Given the description of an element on the screen output the (x, y) to click on. 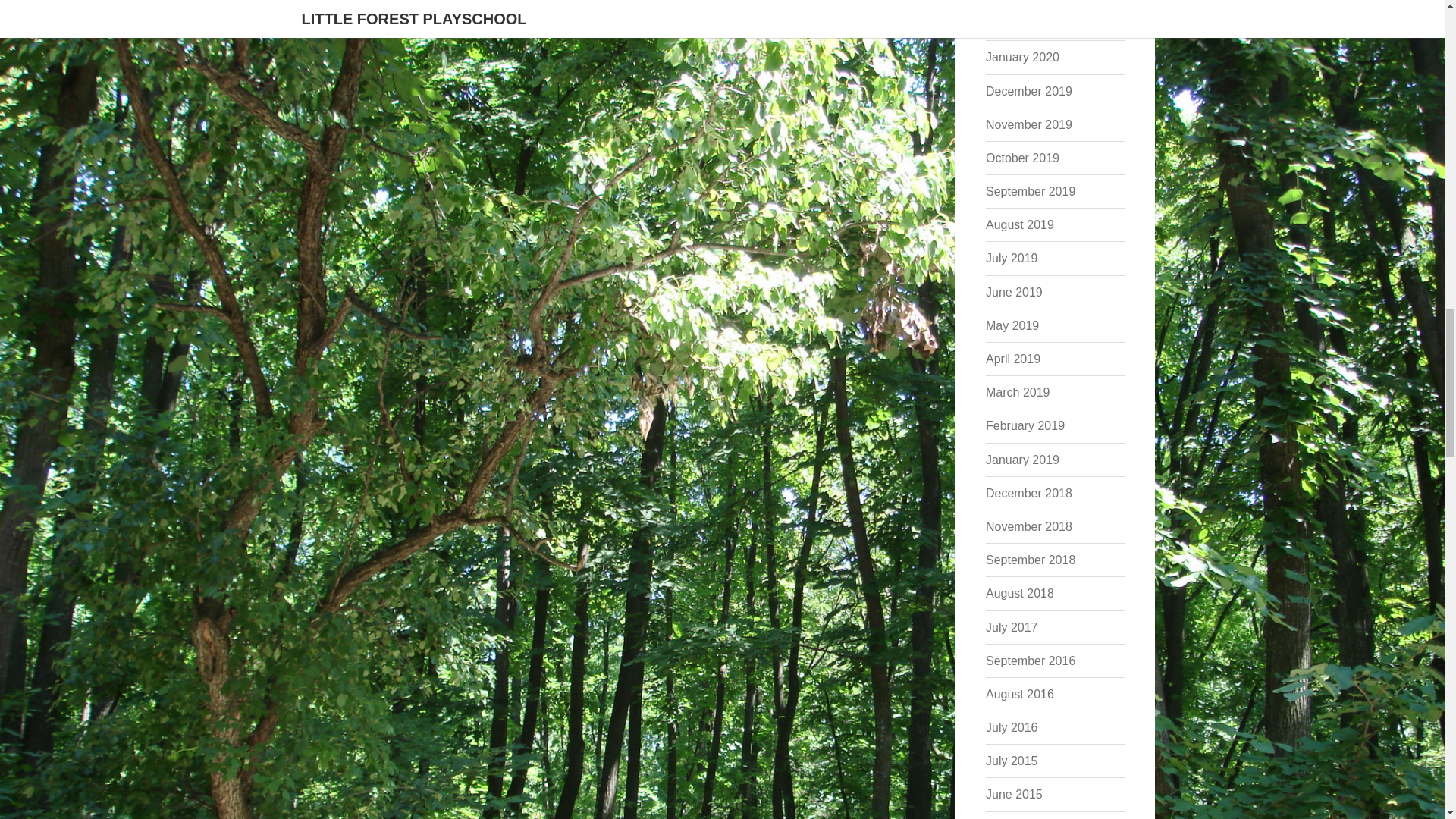
November 2019 (1028, 124)
December 2019 (1028, 91)
October 2019 (1022, 157)
September 2019 (1030, 191)
August 2019 (1019, 224)
July 2019 (1011, 257)
February 2020 (1024, 23)
January 2020 (1022, 56)
June 2019 (1013, 291)
